Given the description of an element on the screen output the (x, y) to click on. 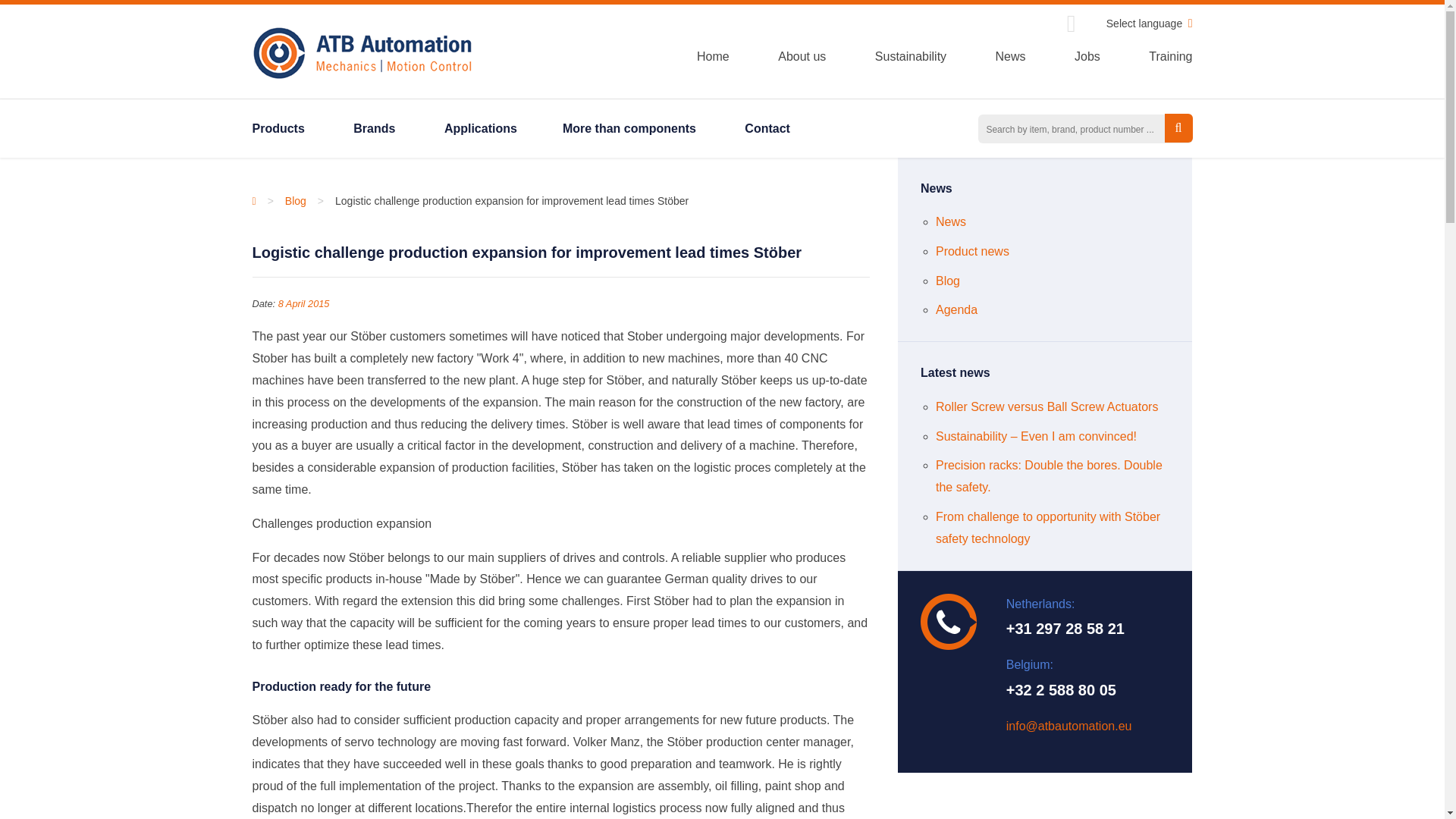
Agenda (956, 309)
Roller Screw versus Ball Screw Actuators (1046, 406)
Precision racks: Double the bores. Double the safety. (1048, 475)
News (951, 221)
Product news (972, 250)
Search (1178, 127)
News (1010, 56)
Sustainability (910, 56)
Brands (373, 127)
Blog (947, 280)
Training (1170, 56)
Home (713, 56)
About us (801, 56)
Contact (767, 127)
Products (277, 127)
